Given the description of an element on the screen output the (x, y) to click on. 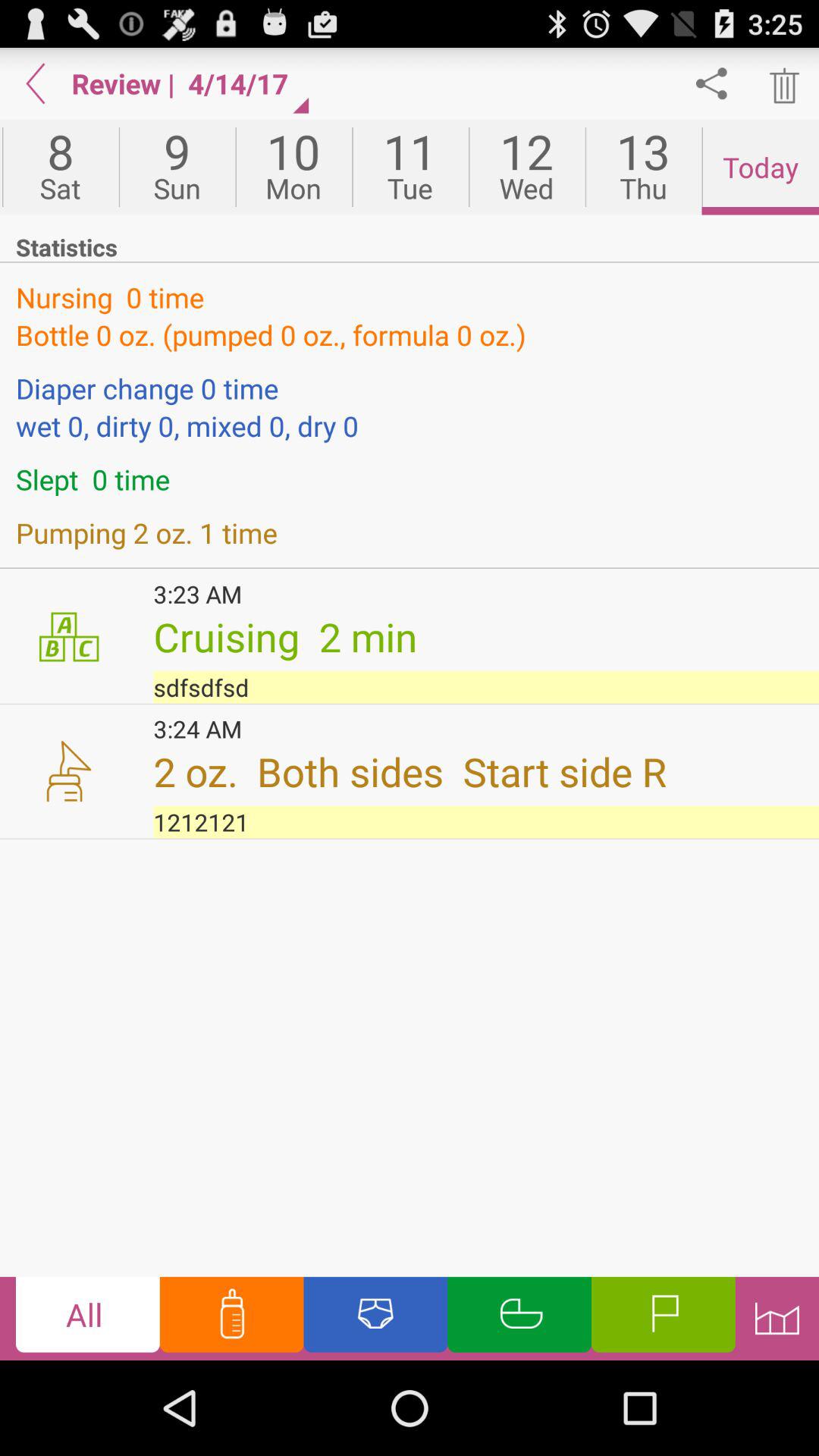
turn on the app above statistics app (526, 166)
